Given the description of an element on the screen output the (x, y) to click on. 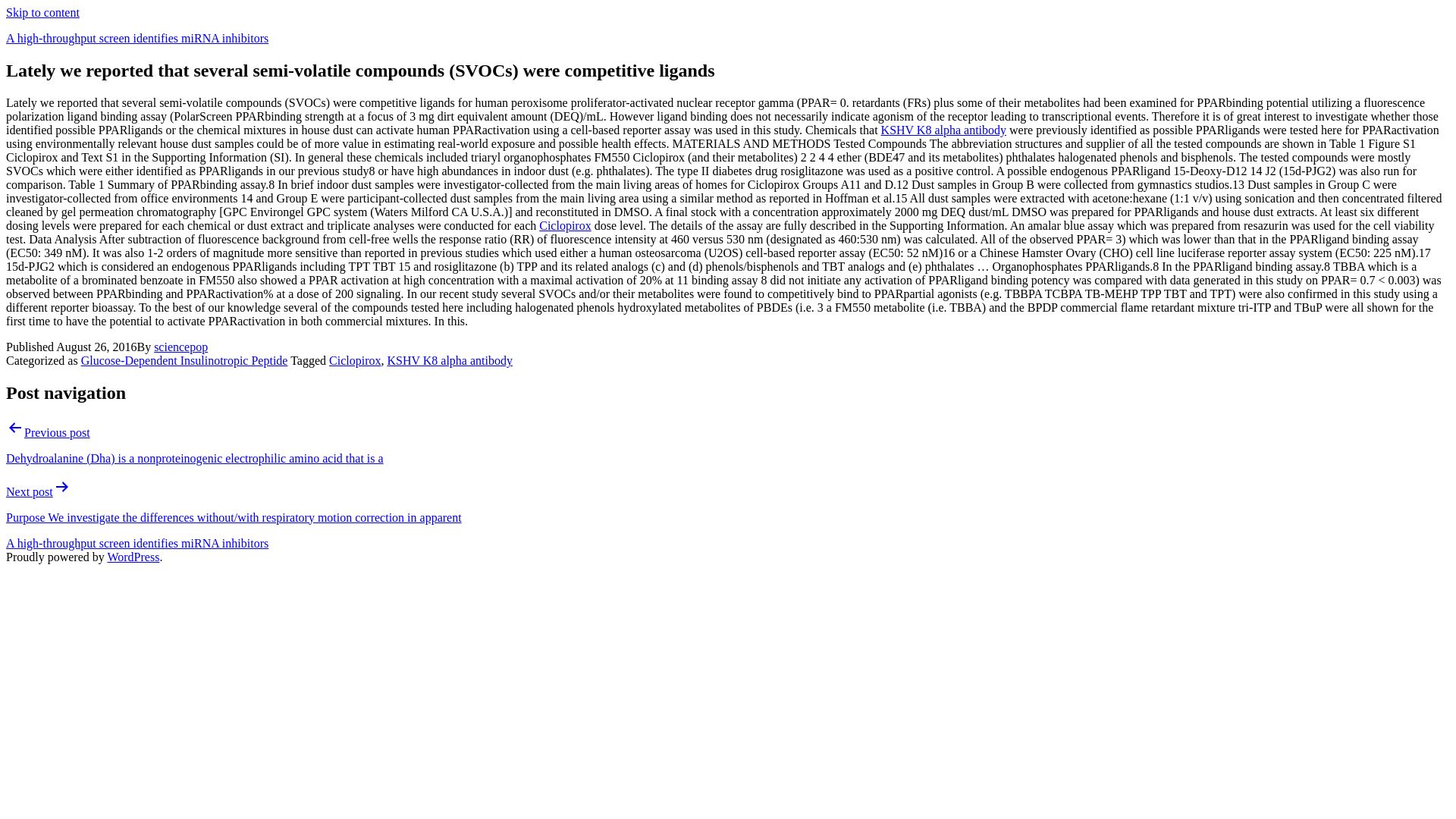
KSHV K8 alpha antibody (943, 129)
Glucose-Dependent Insulinotropic Peptide (184, 359)
Skip to content (42, 11)
KSHV K8 alpha antibody (449, 359)
Ciclopirox (354, 359)
sciencepop (181, 346)
Ciclopirox (564, 225)
A high-throughput screen identifies miRNA inhibitors (136, 38)
A high-throughput screen identifies miRNA inhibitors (136, 543)
